Given the description of an element on the screen output the (x, y) to click on. 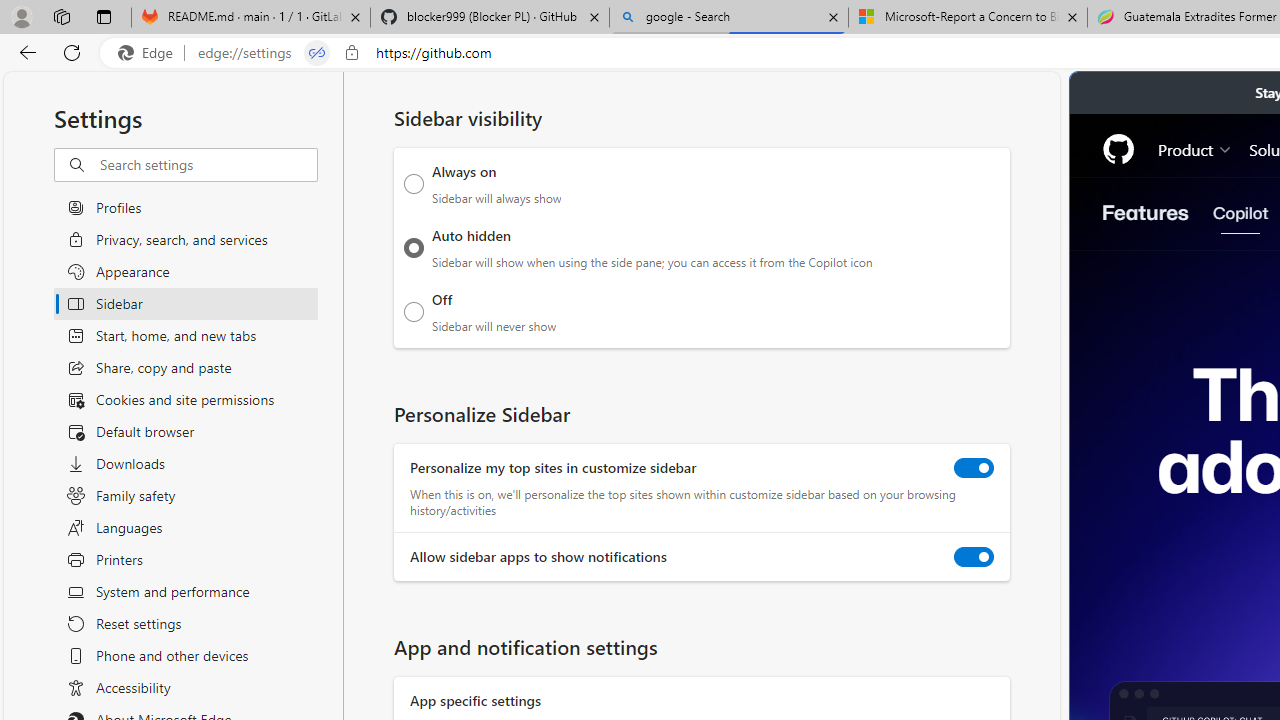
Allow sidebar apps to show notifications (973, 557)
Edge (150, 53)
Homepage (1118, 149)
Off Sidebar will never show (413, 311)
Product (1195, 148)
Product (1195, 148)
